Given the description of an element on the screen output the (x, y) to click on. 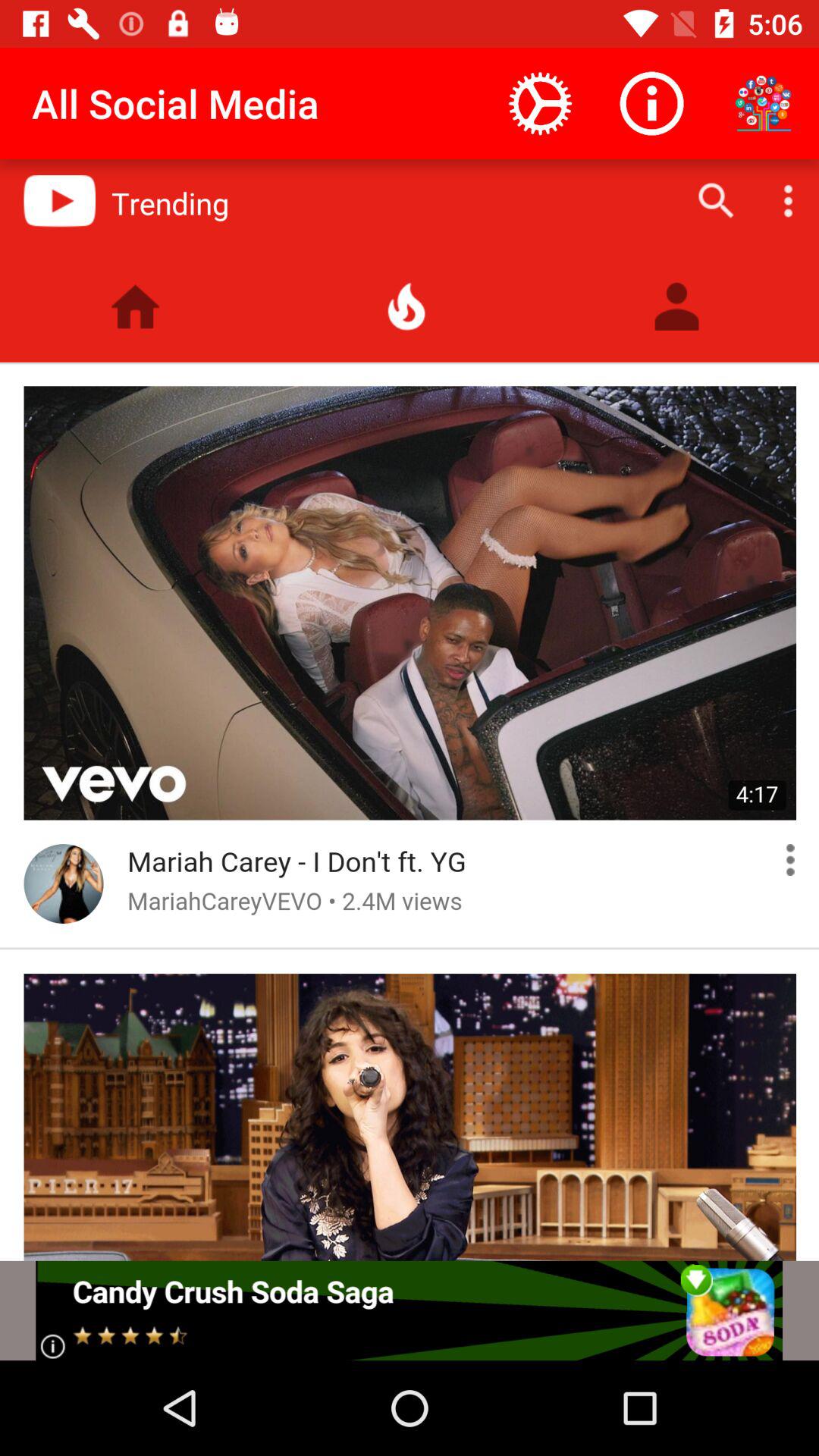
install app (408, 1310)
